Given the description of an element on the screen output the (x, y) to click on. 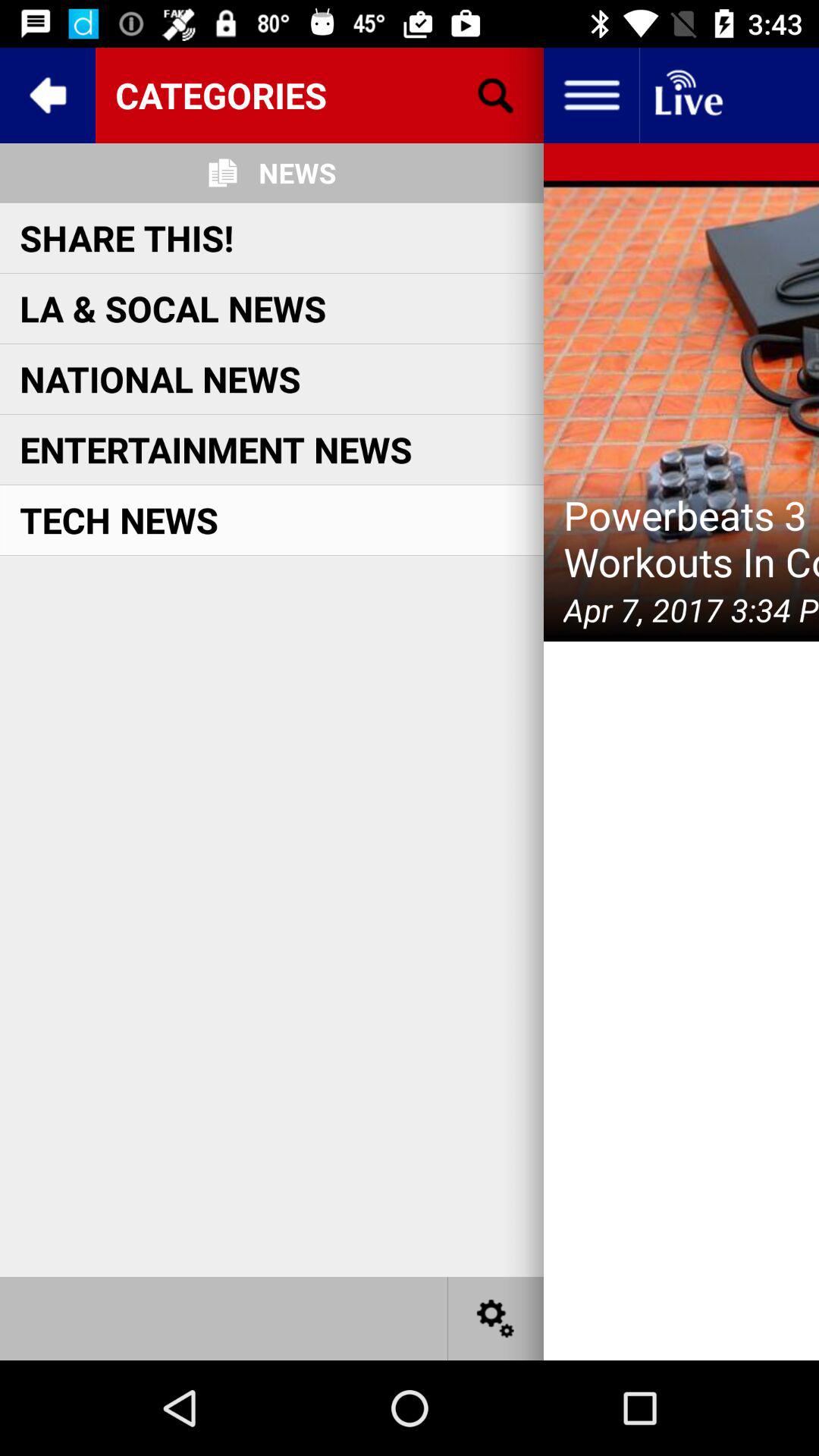
open the live show (687, 95)
